Given the description of an element on the screen output the (x, y) to click on. 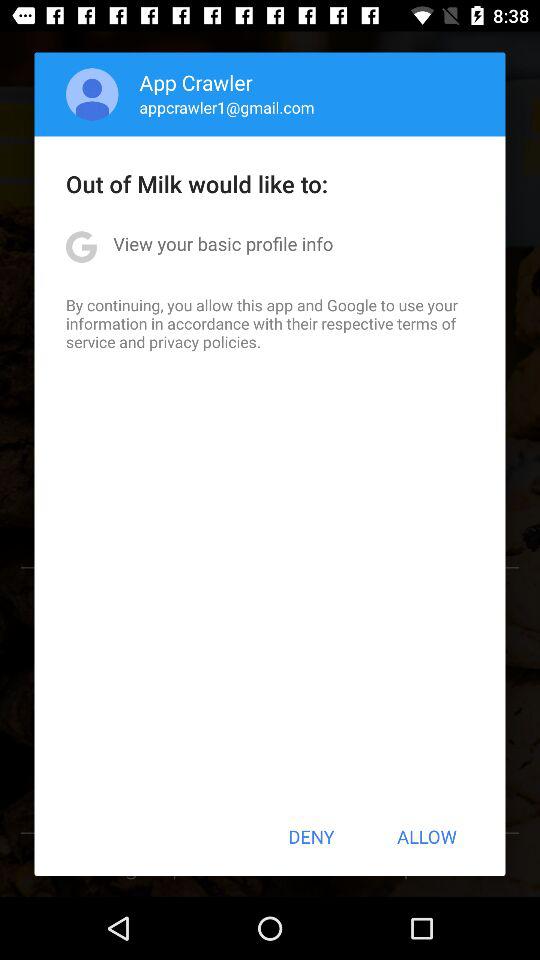
click the item at the bottom (311, 836)
